Given the description of an element on the screen output the (x, y) to click on. 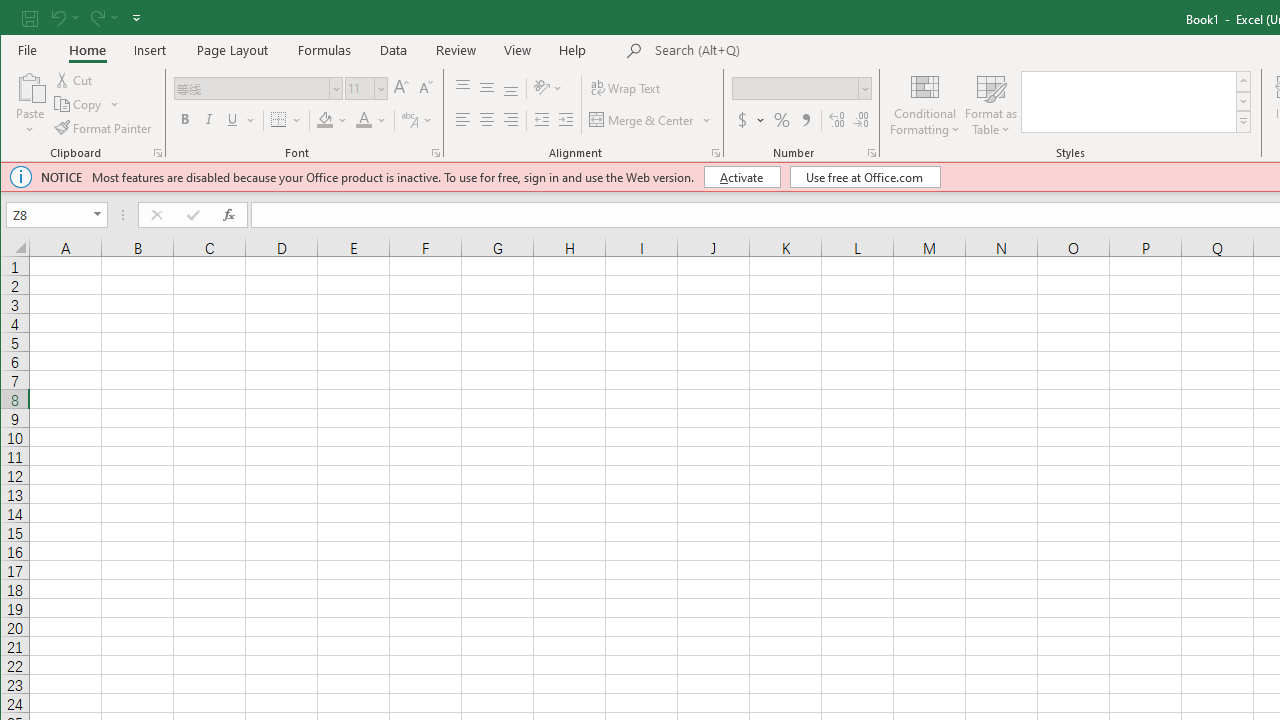
Comma Style (805, 119)
Paste (29, 86)
Fill Color (331, 119)
Increase Decimal (836, 119)
Align Left (462, 119)
Use free at Office.com (864, 176)
Paste (29, 104)
Office Clipboard... (157, 152)
Wrap Text (626, 88)
Show Phonetic Field (410, 119)
Font Color (371, 119)
Bottom Align (511, 88)
